Given the description of an element on the screen output the (x, y) to click on. 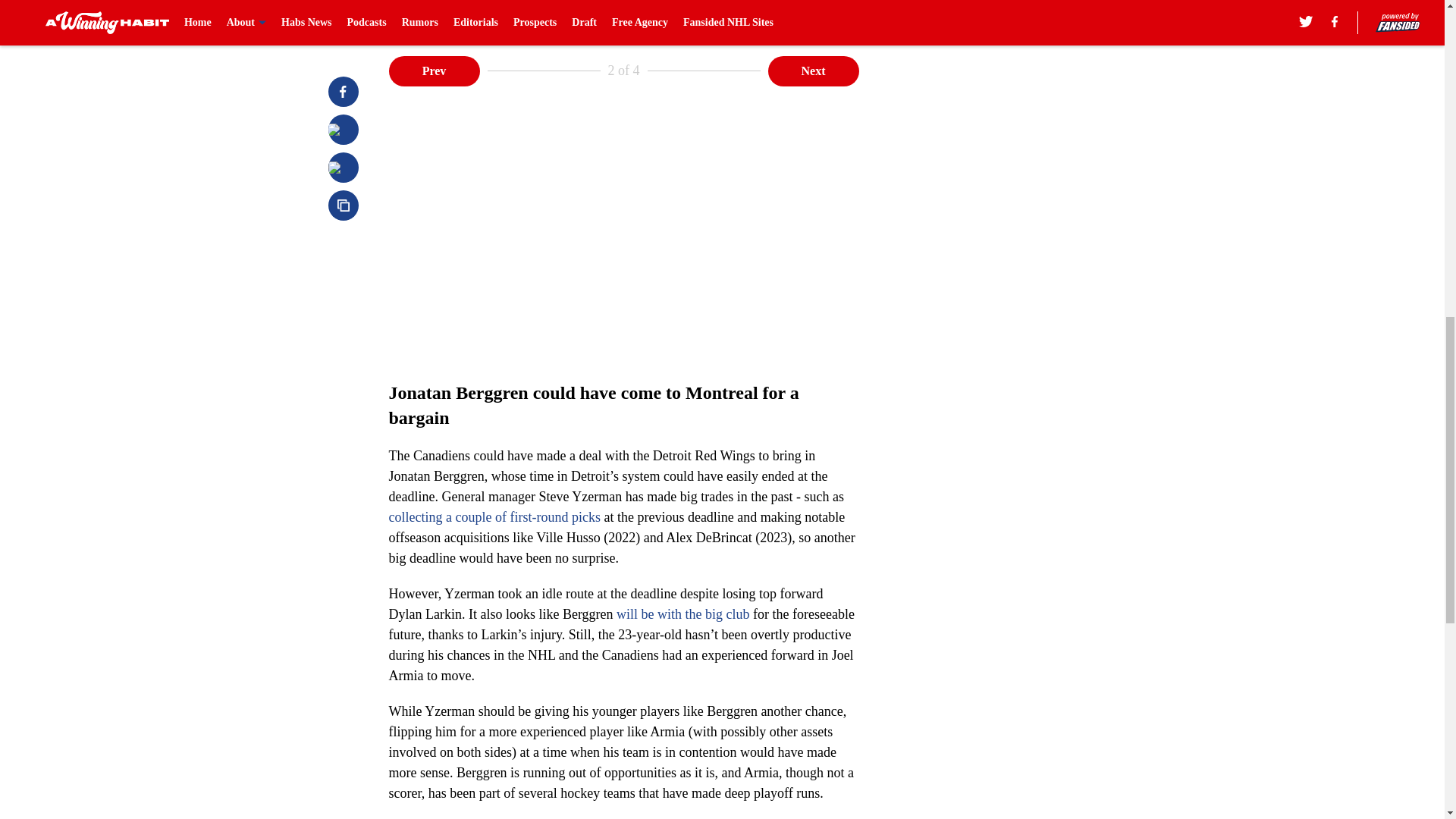
collecting a couple of first-round picks (493, 516)
Prev (433, 71)
Next (813, 71)
will be with the big club (683, 613)
